Given the description of an element on the screen output the (x, y) to click on. 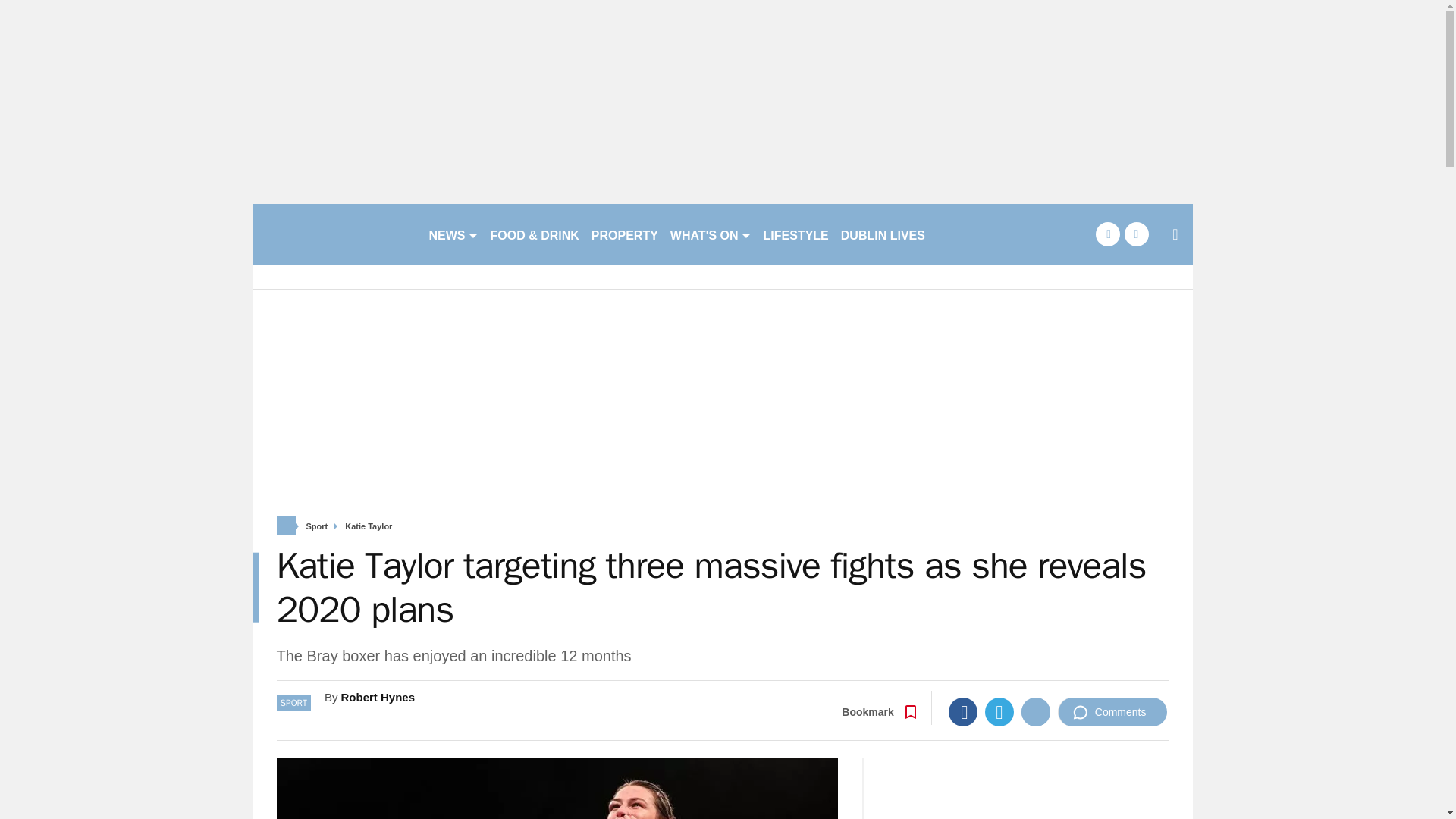
LIFESTYLE (795, 233)
Comments (1112, 711)
twitter (1136, 233)
Facebook (962, 711)
dublinlive (332, 233)
SOCCER (962, 233)
PROPERTY (624, 233)
facebook (1106, 233)
WHAT'S ON (710, 233)
DUBLIN LIVES (882, 233)
Twitter (999, 711)
NEWS (453, 233)
